Given the description of an element on the screen output the (x, y) to click on. 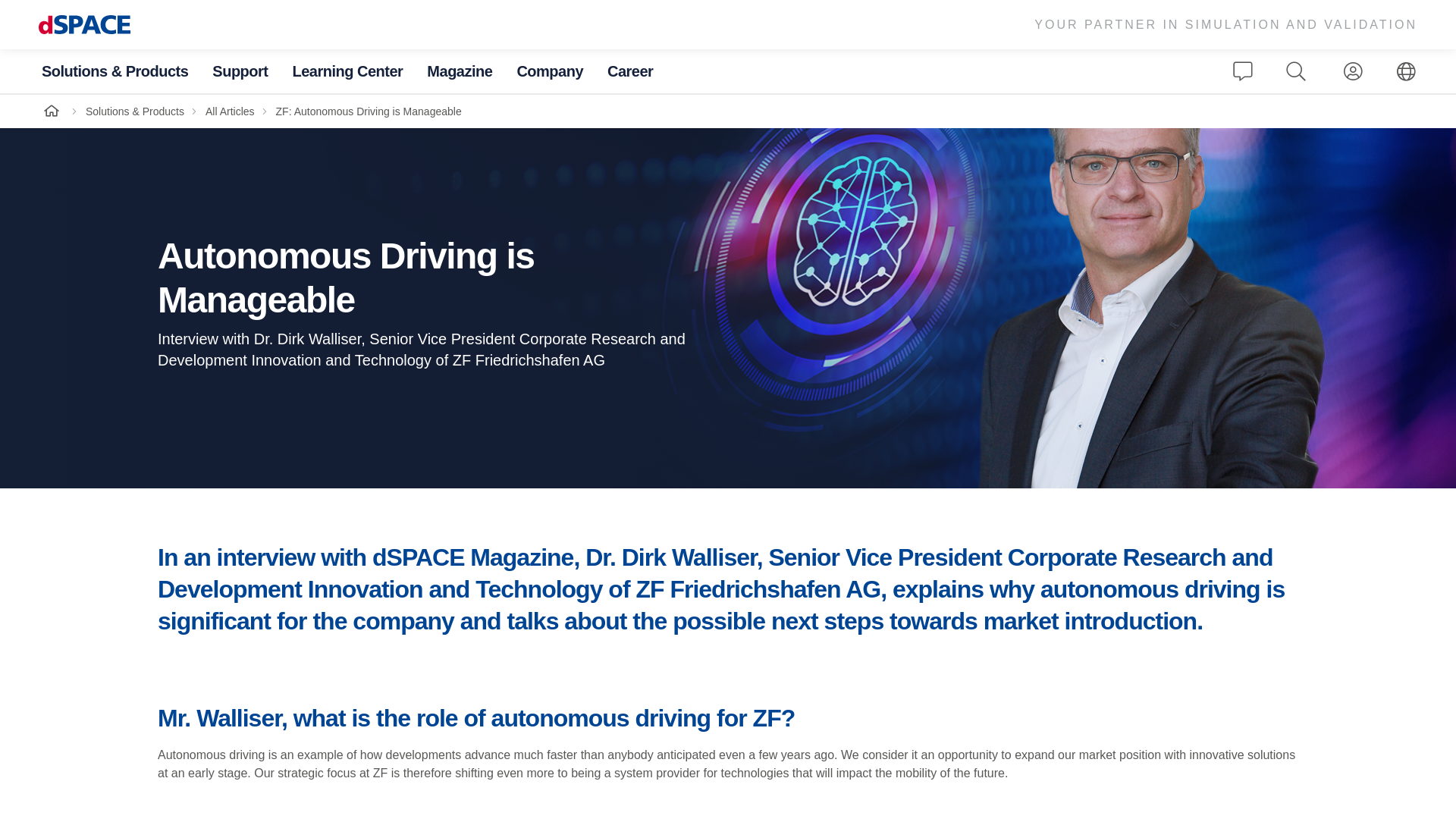
Magazine (459, 71)
Support (239, 71)
Career (629, 71)
Company (549, 71)
Learning Center (347, 71)
